Given the description of an element on the screen output the (x, y) to click on. 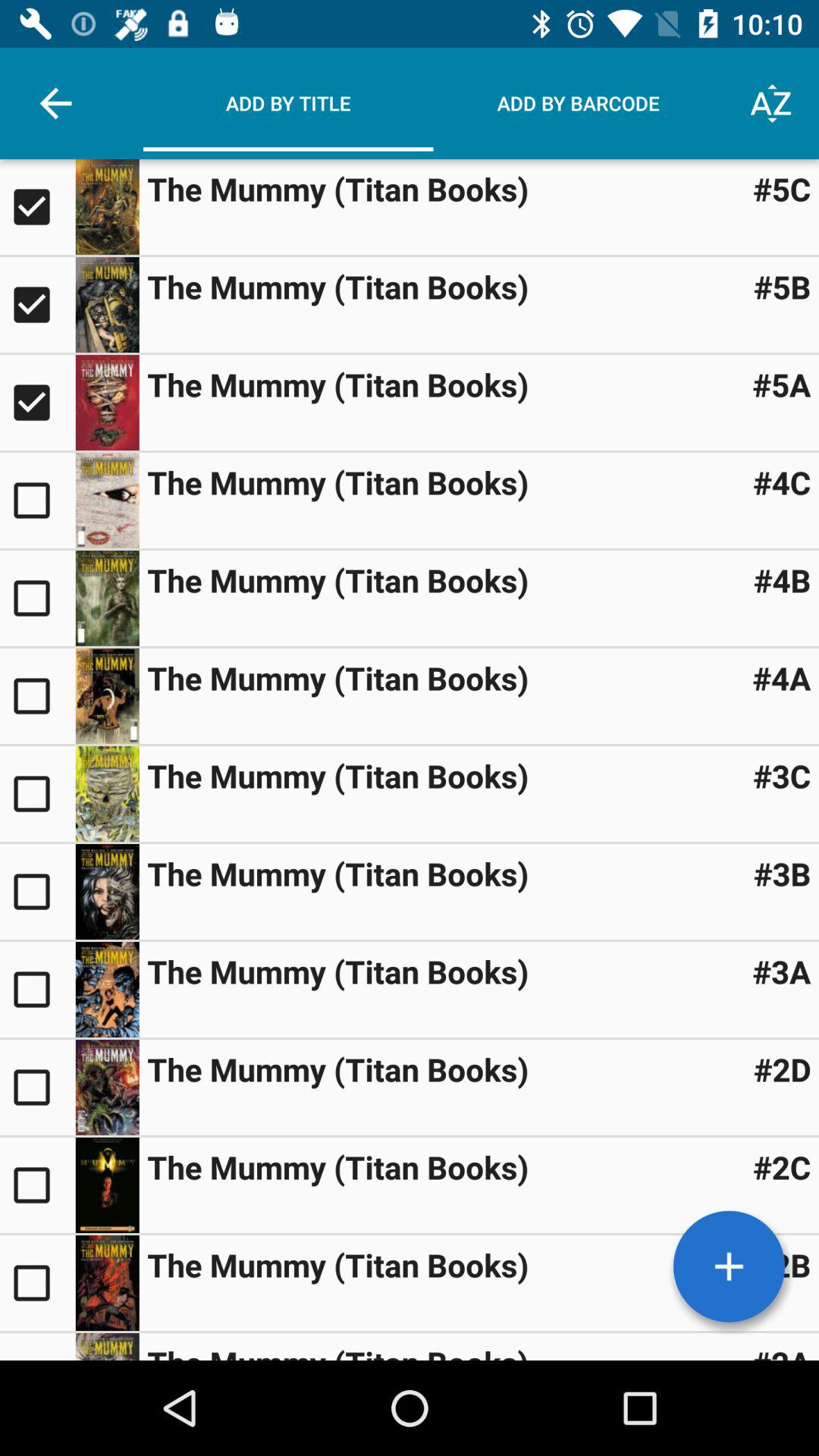
view book (107, 304)
